Given the description of an element on the screen output the (x, y) to click on. 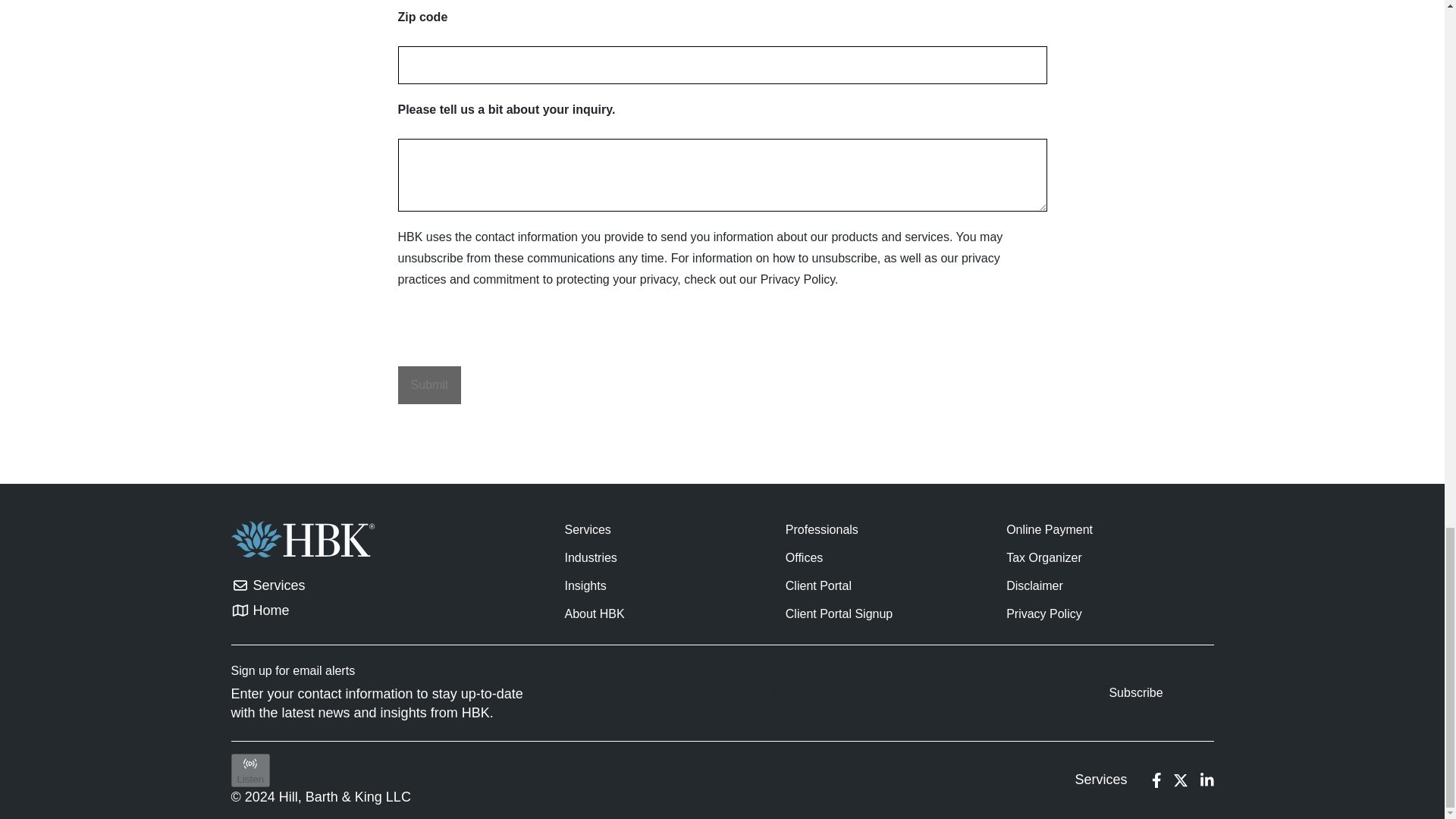
HBK (302, 538)
Services (267, 585)
Offices (805, 557)
Subscribe (1135, 693)
Services (1100, 779)
Online Payment (1049, 529)
Services (587, 529)
Privacy Policy (1043, 613)
Submit (429, 385)
Insights (584, 585)
Submit (429, 385)
About HBK (594, 613)
Client Portal (818, 585)
Client Portal Signup (839, 613)
Home (267, 610)
